Given the description of an element on the screen output the (x, y) to click on. 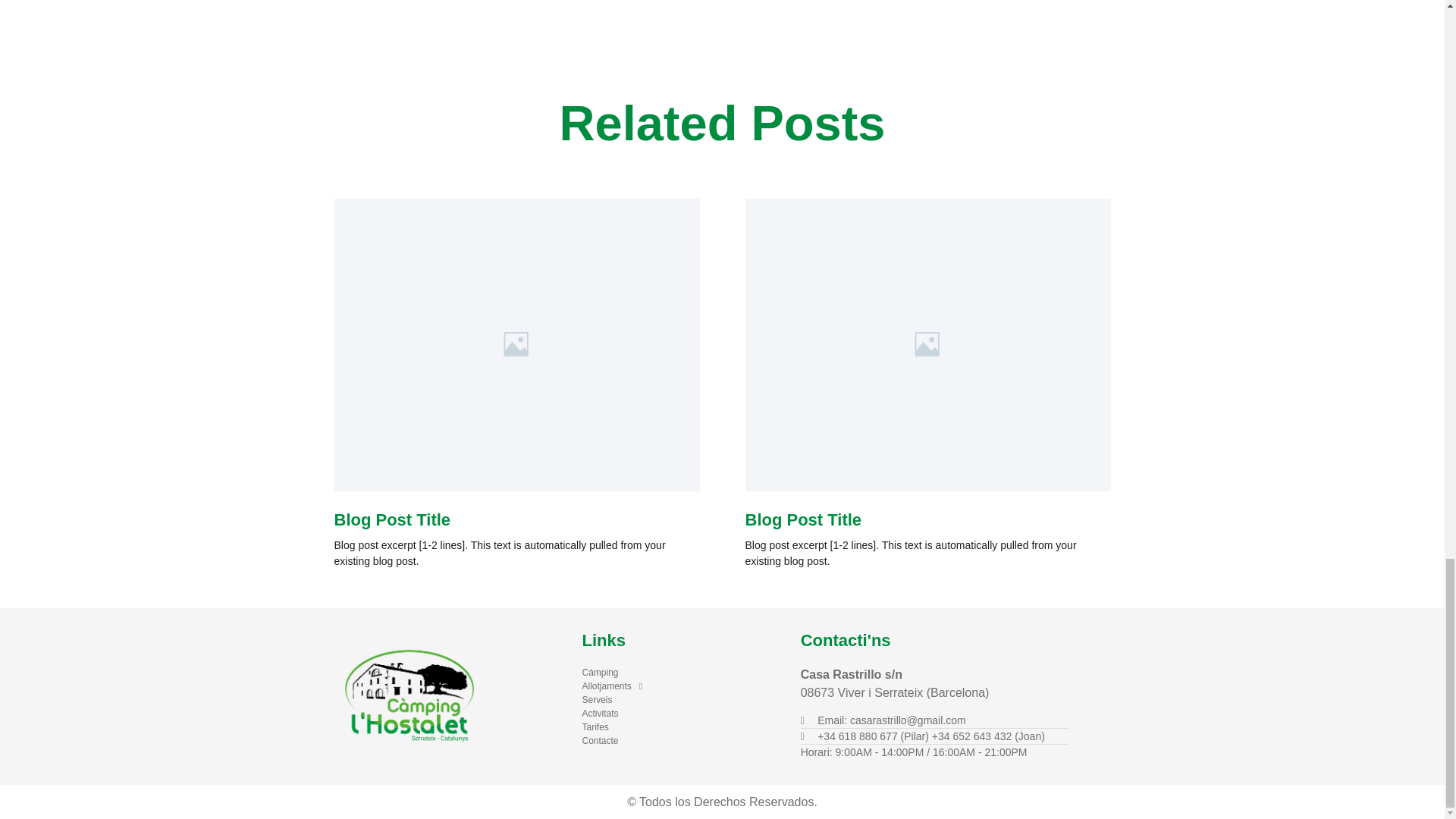
Read More (774, 597)
Blog Post Title (391, 519)
Read More (363, 597)
Blog Post Title (802, 519)
